Given the description of an element on the screen output the (x, y) to click on. 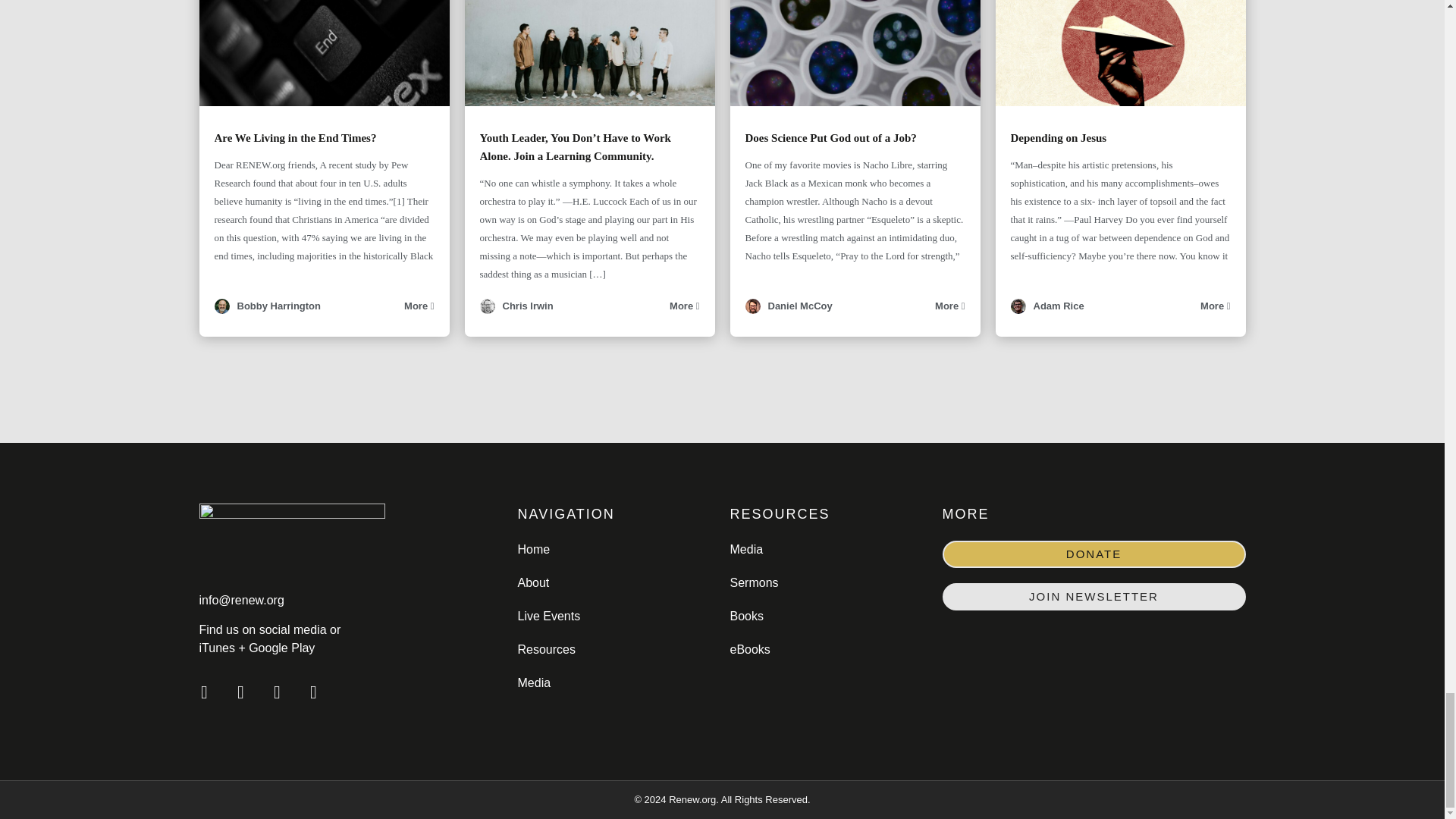
Chris Irwin (487, 310)
Depending on Jesus (1058, 137)
Daniel McCoy (799, 305)
Bobby Harrington (277, 305)
Are We Living in the End Times? (294, 137)
Does Science Put God out of a Job? (829, 137)
Bobby Harrington (221, 310)
Chris Irwin (527, 305)
Daniel McCoy (752, 310)
